Given the description of an element on the screen output the (x, y) to click on. 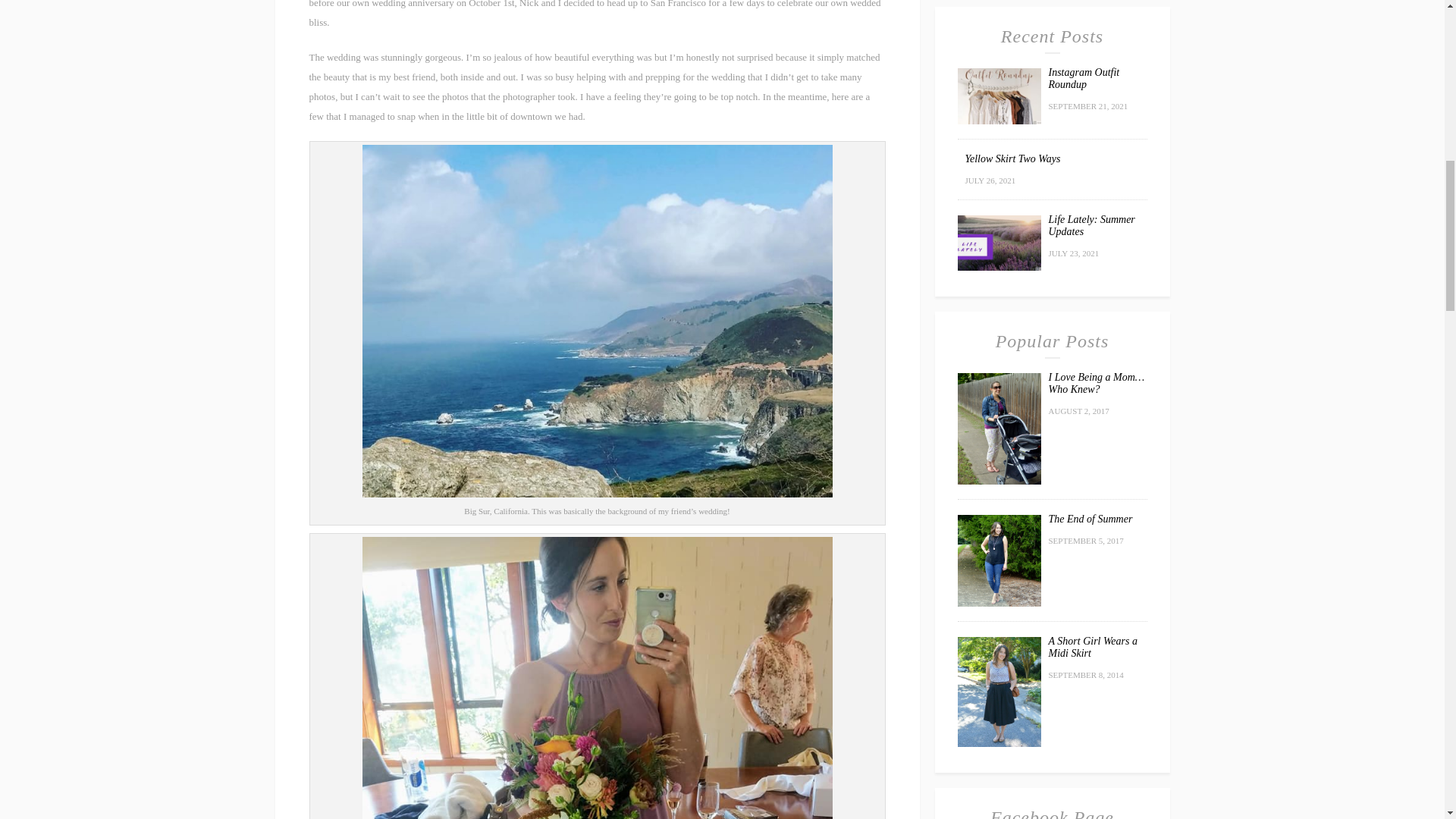
Permanent Link to Life Lately: Summer Updates (998, 266)
Permanent Link to Instagram Outfit Roundup (1083, 78)
Permanent Link to Instagram Outfit Roundup (998, 120)
Permanent Link to Yellow Skirt Two Ways (1011, 158)
Permanent Link to Life Lately: Summer Updates (1091, 225)
Permanent Link to The End of Summer (998, 603)
